Given the description of an element on the screen output the (x, y) to click on. 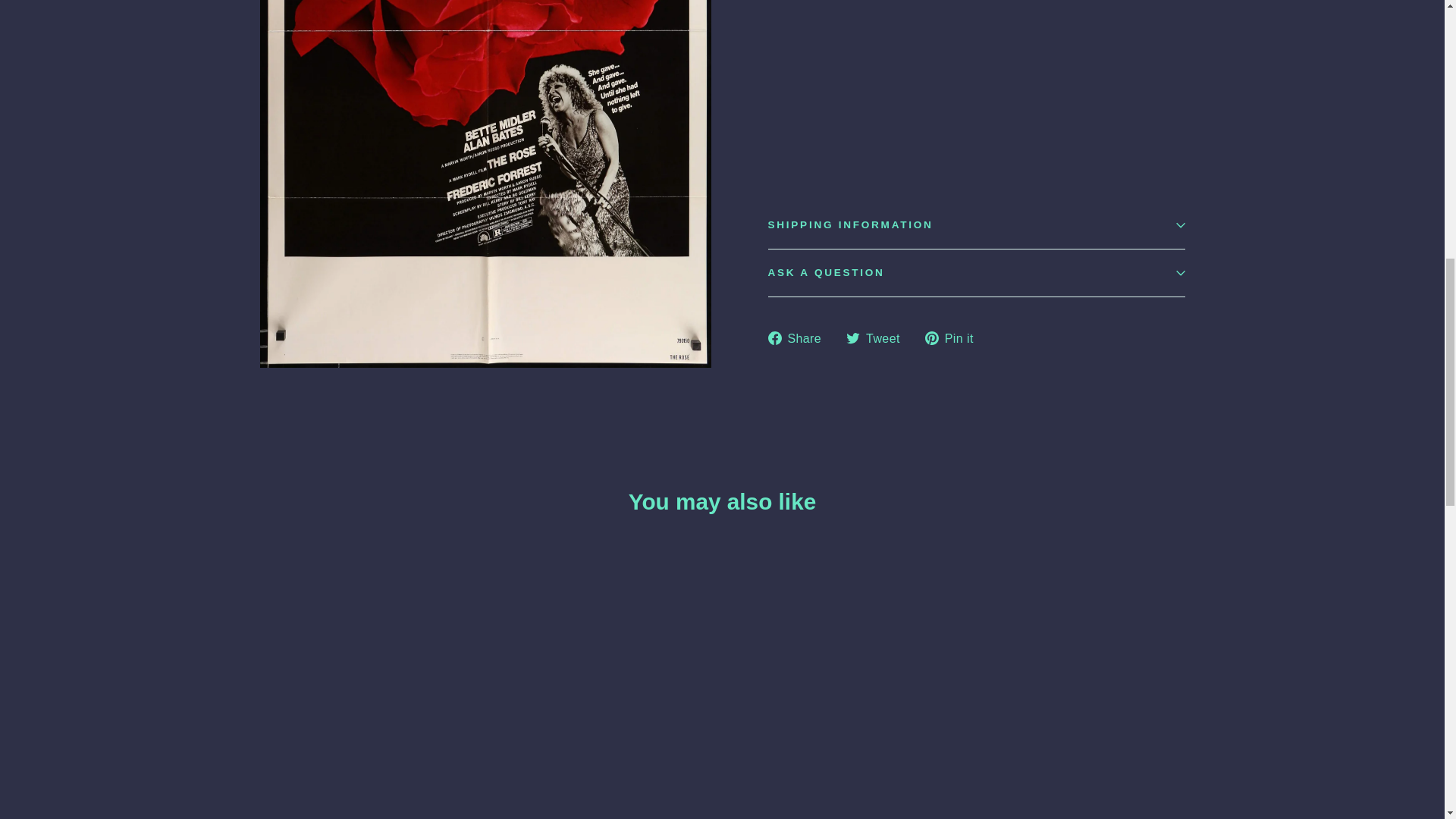
Share on Facebook (799, 338)
Tweet on Twitter (878, 338)
twitter (852, 337)
Pin on Pinterest (954, 338)
